Given the description of an element on the screen output the (x, y) to click on. 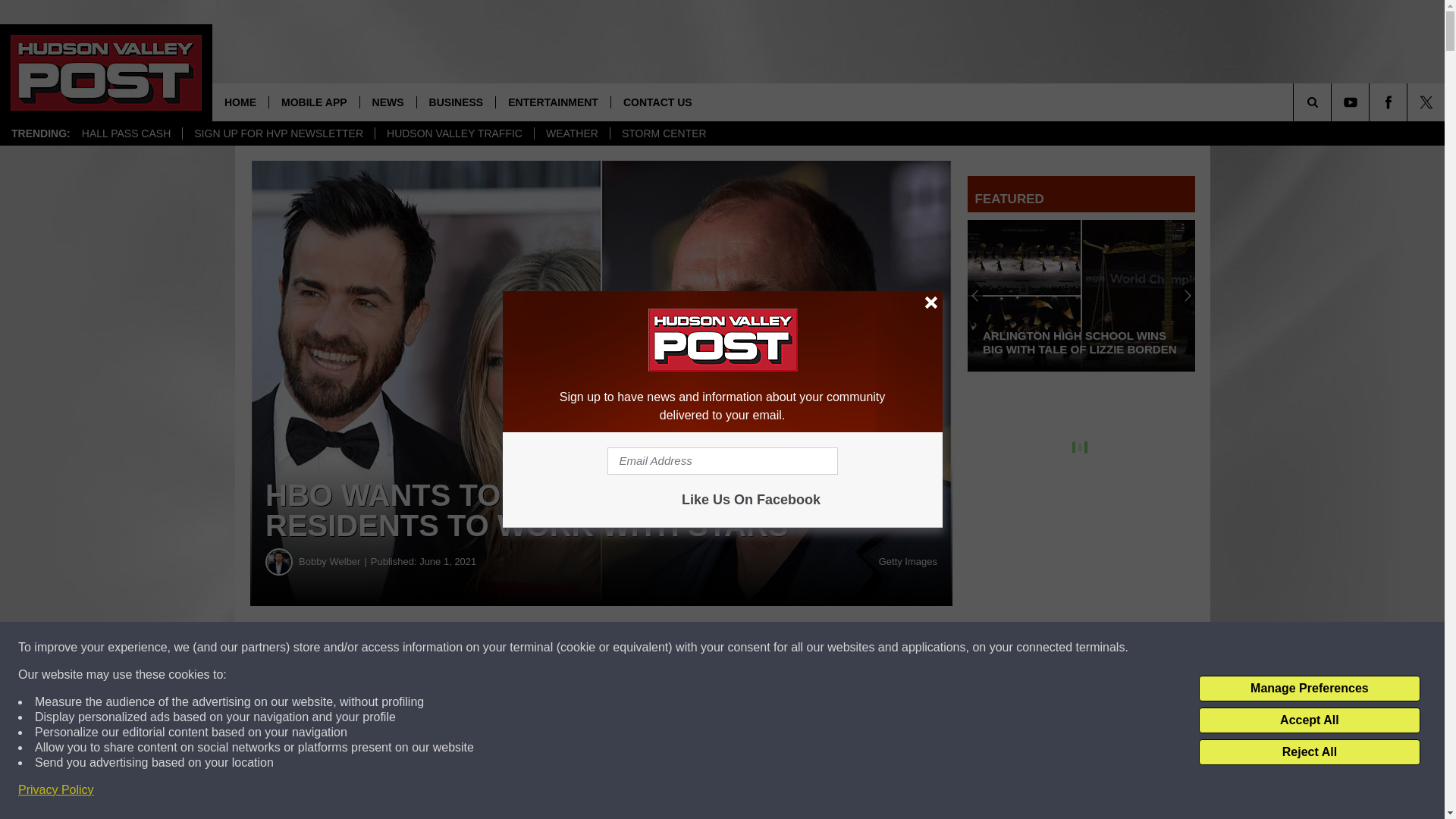
Accept All (1309, 720)
SIGN UP FOR HVP NEWSLETTER (278, 133)
Share on Twitter (741, 647)
BUSINESS (456, 102)
NEWS (387, 102)
Email Address (722, 461)
MOBILE APP (313, 102)
WEATHER (572, 133)
CONTACT US (657, 102)
HALL PASS CASH (126, 133)
HOME (239, 102)
HUDSON VALLEY TRAFFIC (454, 133)
SEARCH (1333, 102)
Share on Facebook (460, 647)
Reject All (1309, 751)
